Given the description of an element on the screen output the (x, y) to click on. 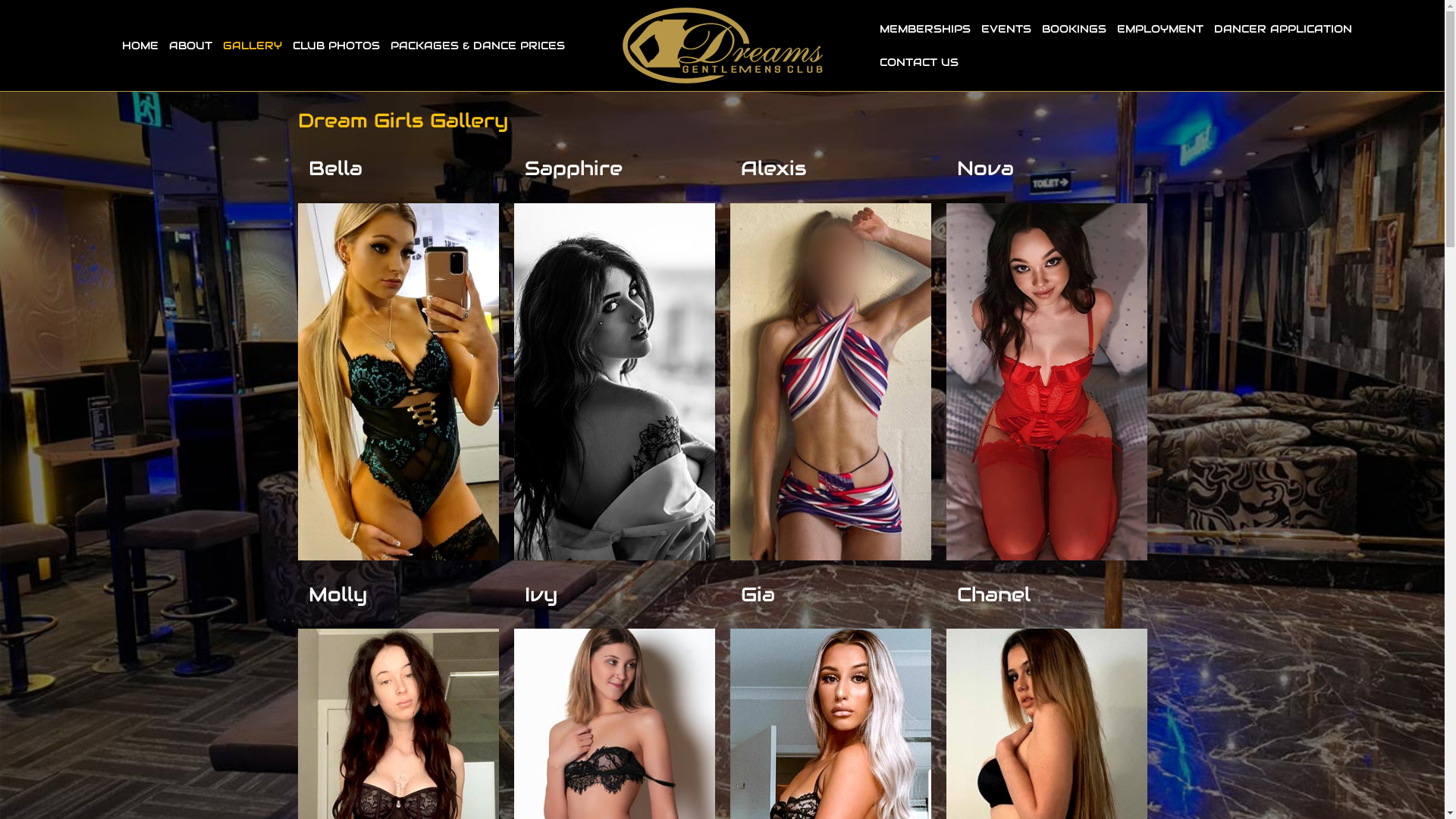
Alexis Element type: text (772, 168)
DANCER APPLICATION Element type: text (1282, 28)
HOME Element type: text (139, 45)
ABOUT Element type: text (190, 45)
Gia Element type: text (756, 594)
BOOKINGS Element type: text (1073, 28)
Ivy Element type: text (540, 594)
CONTACT US Element type: text (918, 61)
MEMBERSHIPS Element type: text (924, 28)
PACKAGES & DANCE PRICES Element type: text (477, 45)
GALLERY Element type: text (252, 45)
EMPLOYMENT Element type: text (1159, 28)
Nova Element type: text (985, 168)
EVENTS Element type: text (1005, 28)
Bella Element type: text (334, 168)
Chanel Element type: text (993, 594)
Sapphire Element type: text (573, 168)
Molly Element type: text (336, 594)
CLUB PHOTOS Element type: text (336, 45)
